Given the description of an element on the screen output the (x, y) to click on. 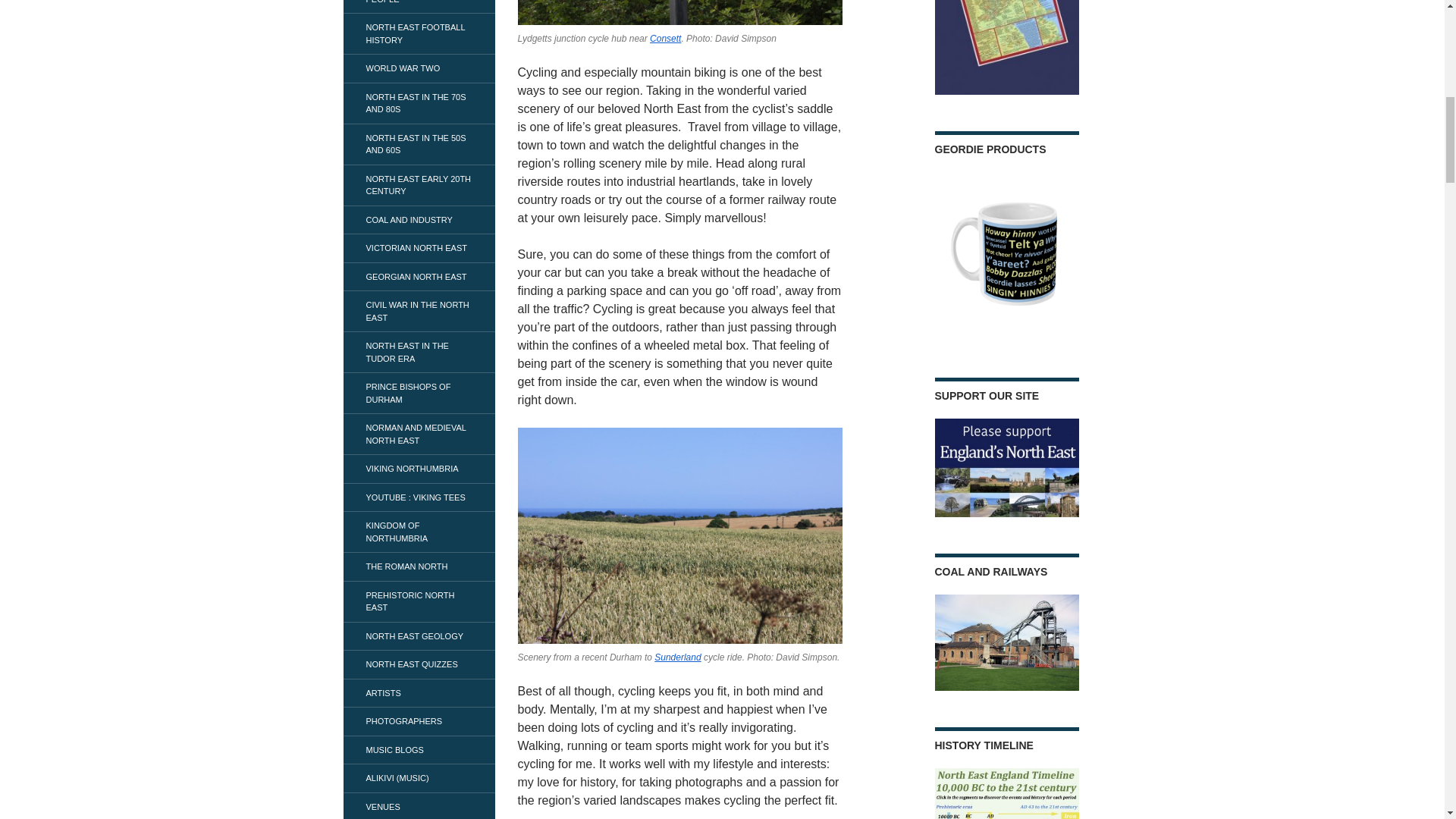
North East Collieries (1006, 47)
